Given the description of an element on the screen output the (x, y) to click on. 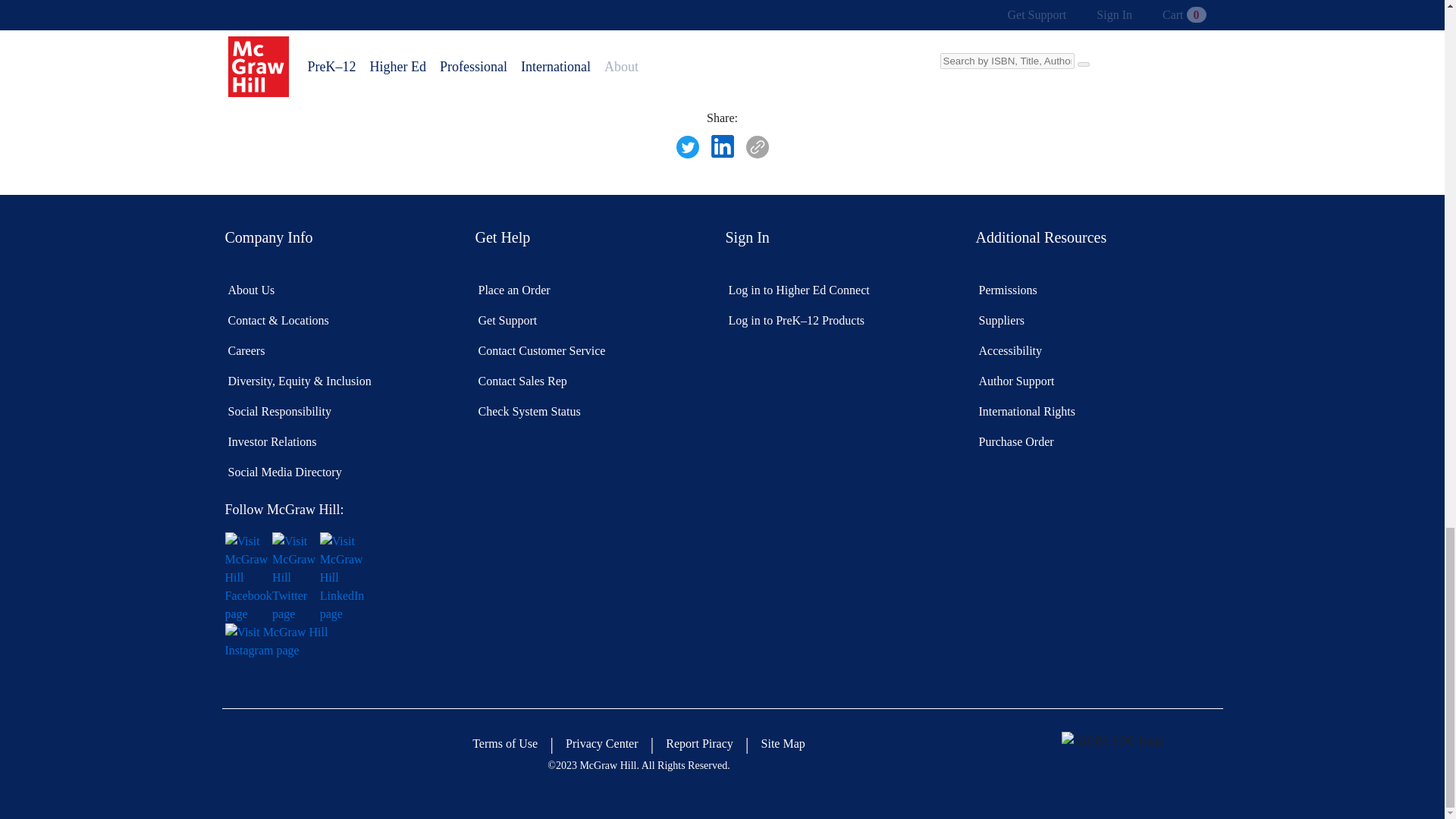
Share this article on Twitter (687, 146)
Copy URL of this article (756, 146)
Share this article on LinkedIn (722, 146)
